Given the description of an element on the screen output the (x, y) to click on. 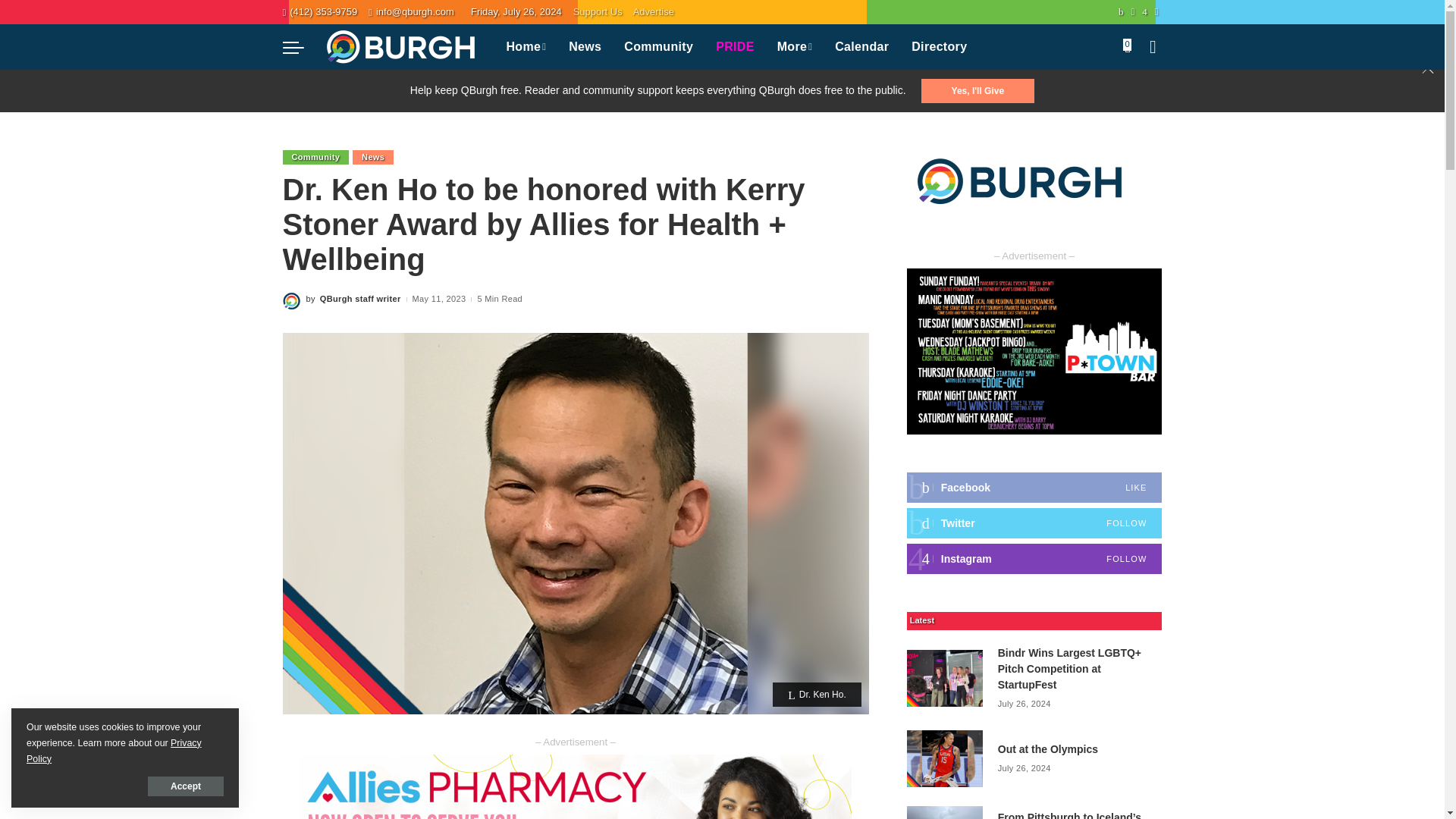
QBurgh (400, 46)
Support Us (600, 11)
Advertise (653, 11)
